Given the description of an element on the screen output the (x, y) to click on. 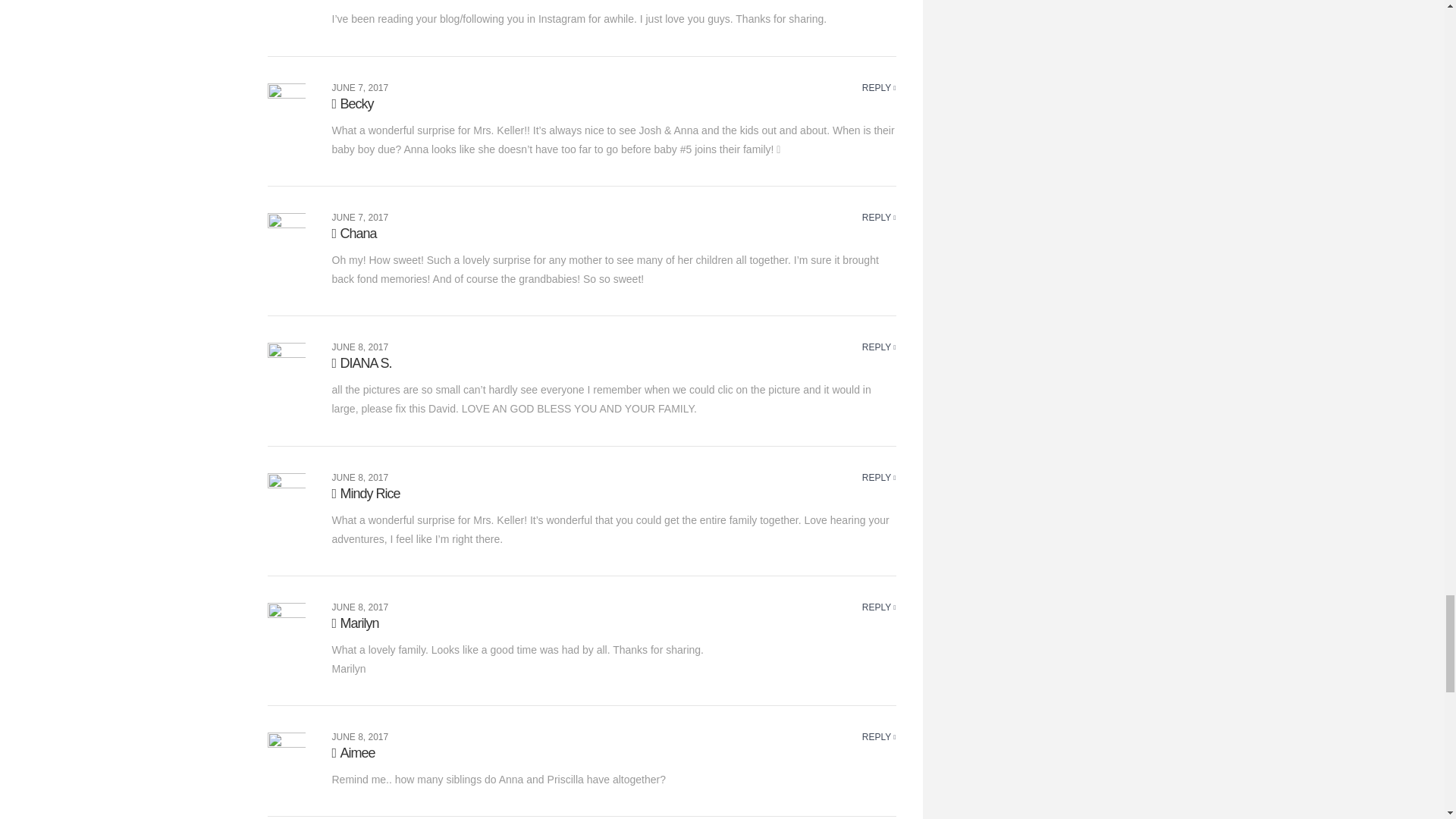
JUNE 8, 2017 (359, 737)
JUNE 8, 2017 (359, 606)
REPLY (878, 737)
JUNE 8, 2017 (359, 477)
REPLY (878, 477)
REPLY (878, 216)
DIANA S. (361, 363)
JUNE 7, 2017 (359, 216)
REPLY (878, 347)
JUNE 8, 2017 (359, 347)
